Given the description of an element on the screen output the (x, y) to click on. 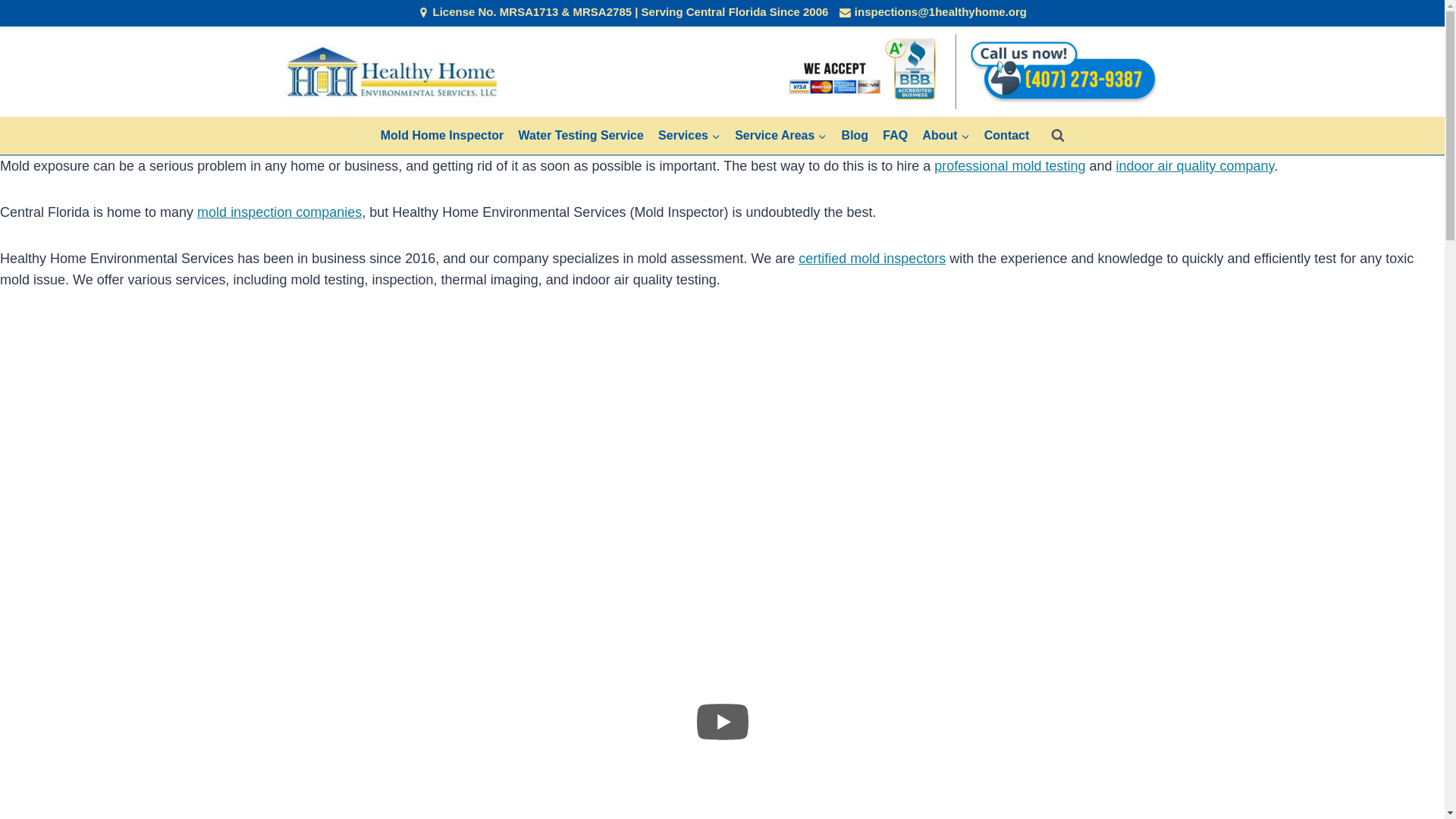
certified mold inspectors Element type: text (871, 258)
indoor air quality company Element type: text (1195, 165)
Blog Element type: text (854, 135)
About Element type: text (945, 135)
Mold Home Inspector Element type: text (442, 135)
Contact Element type: text (1006, 135)
Water Testing Service Element type: text (581, 135)
Services Element type: text (688, 135)
professional mold testing Element type: text (1009, 165)
Service Areas Element type: text (781, 135)
mold inspection companies Element type: text (279, 211)
FAQ Element type: text (895, 135)
inspections@1healthyhome.org Element type: text (932, 12)
